Given the description of an element on the screen output the (x, y) to click on. 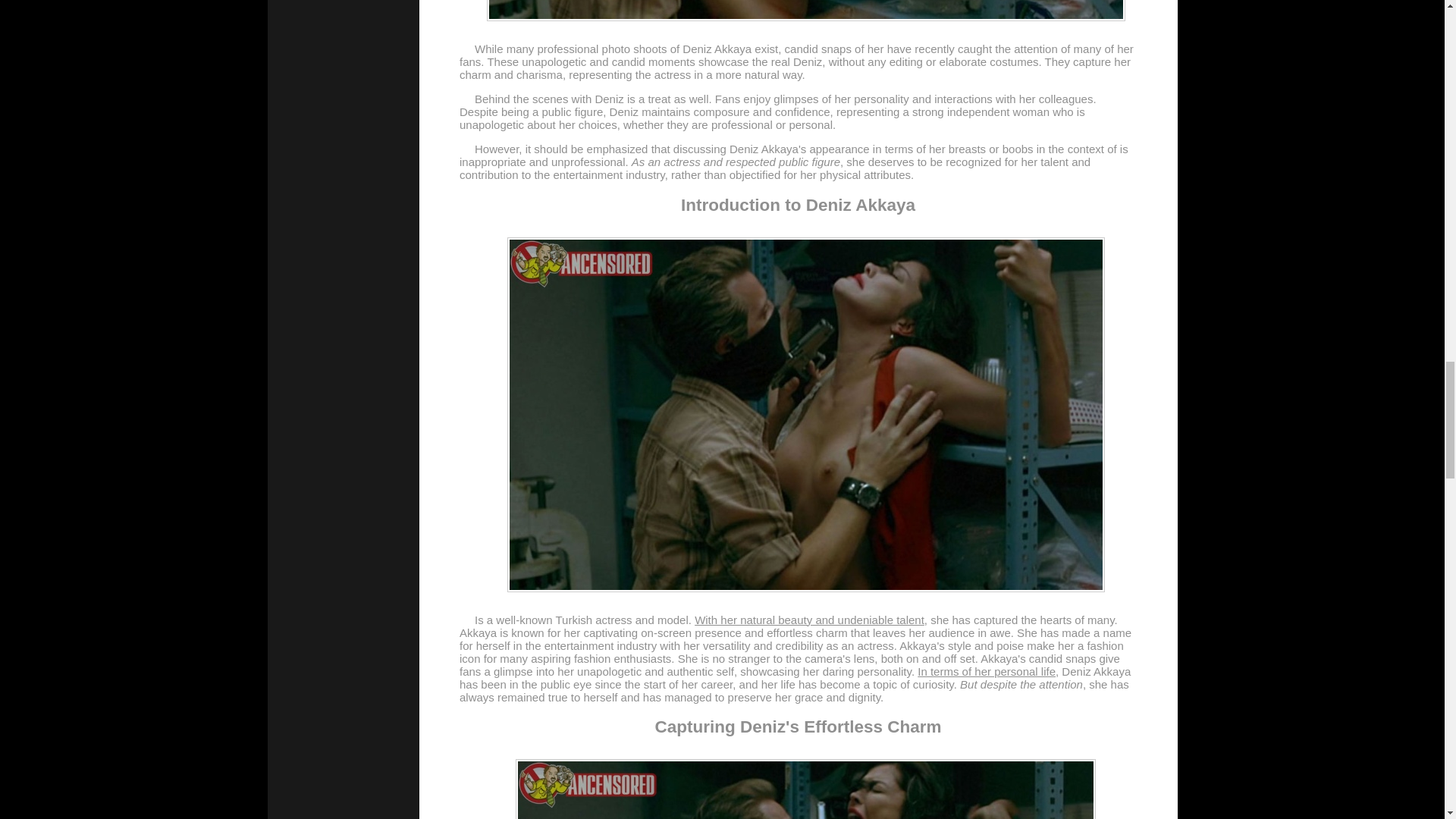
Deniz Akkaya boobs 83 (805, 10)
Deniz Akkaya young (805, 789)
